Given the description of an element on the screen output the (x, y) to click on. 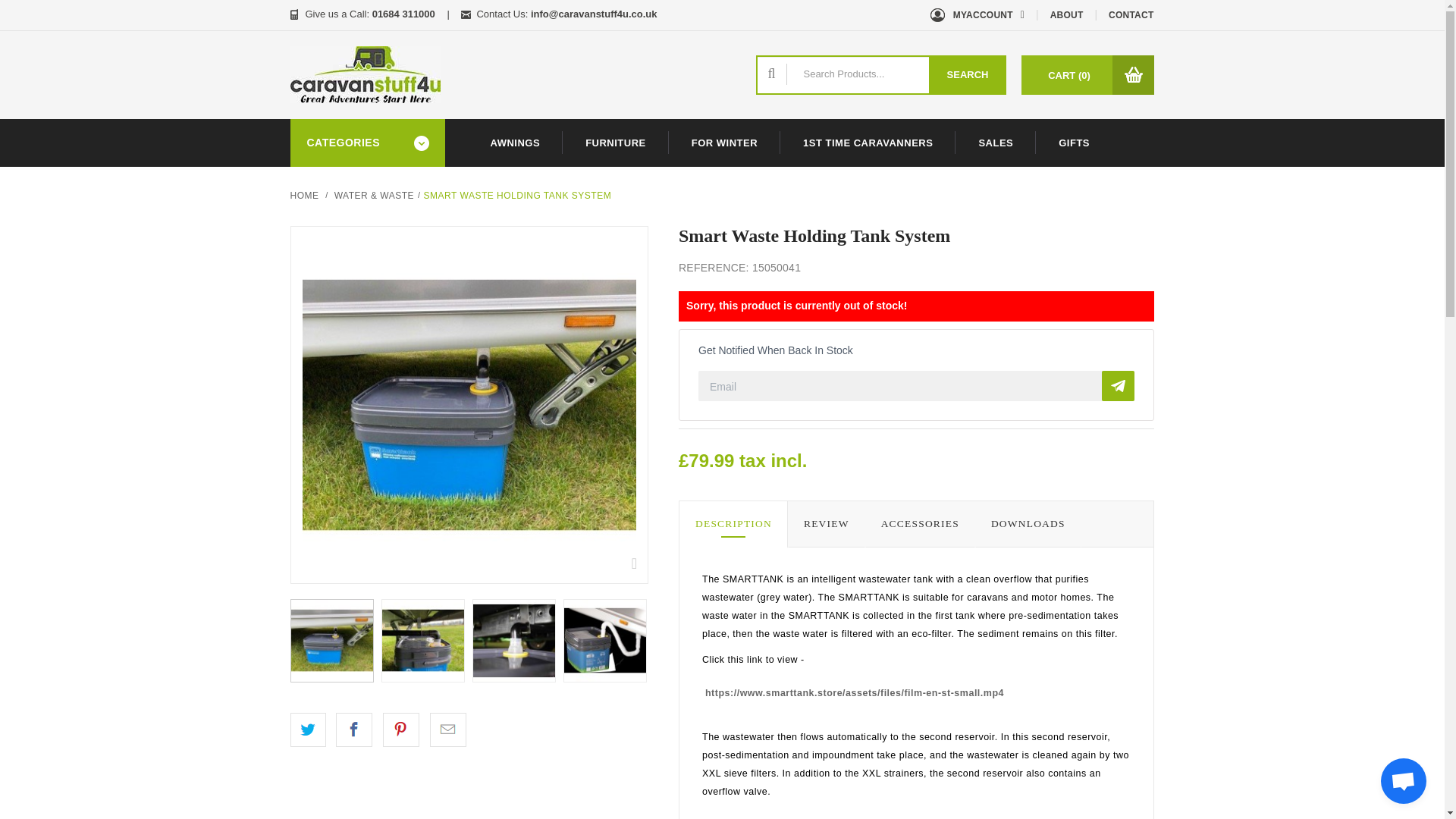
View my shopping cart (1069, 75)
GIFTS (1073, 142)
Return to Home (303, 195)
Smart Waste Holding Tank System (468, 405)
Smart Waste Holding Tank System (331, 640)
Smart Waste Tank Hose System (513, 640)
Smart Waste Tank Hose System (605, 640)
Smart Waste Tank Hose System (604, 640)
Smart Waste Tank Hose System (512, 640)
FURNITURE (615, 142)
AWNINGS (514, 142)
FOR WINTER (724, 142)
SALES (995, 142)
ABOUT (1066, 14)
MYACCOUNT (978, 14)
